Given the description of an element on the screen output the (x, y) to click on. 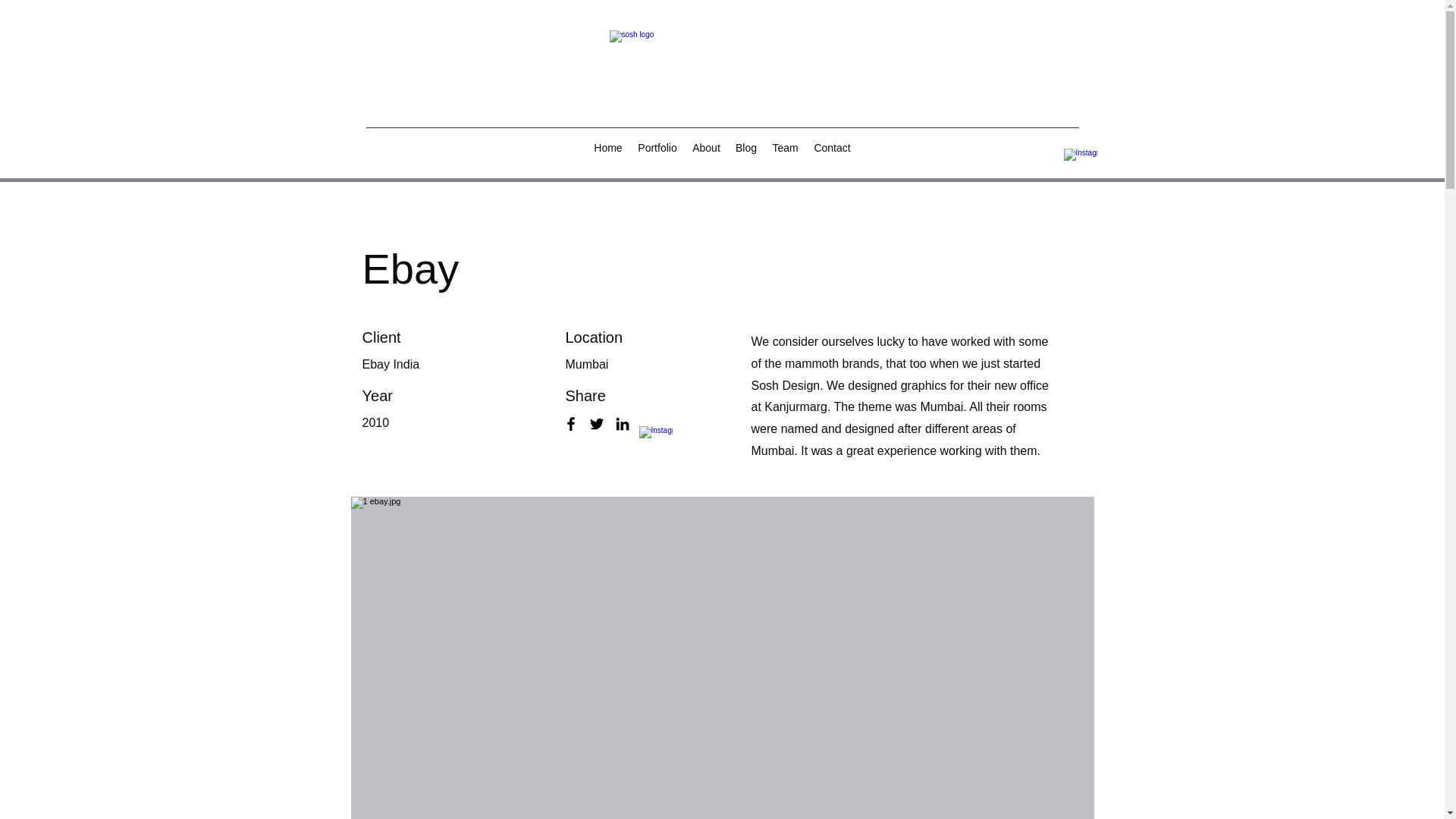
Blog (746, 147)
Team (785, 147)
About (706, 147)
Contact (832, 147)
Home (608, 147)
Portfolio (657, 147)
